Given the description of an element on the screen output the (x, y) to click on. 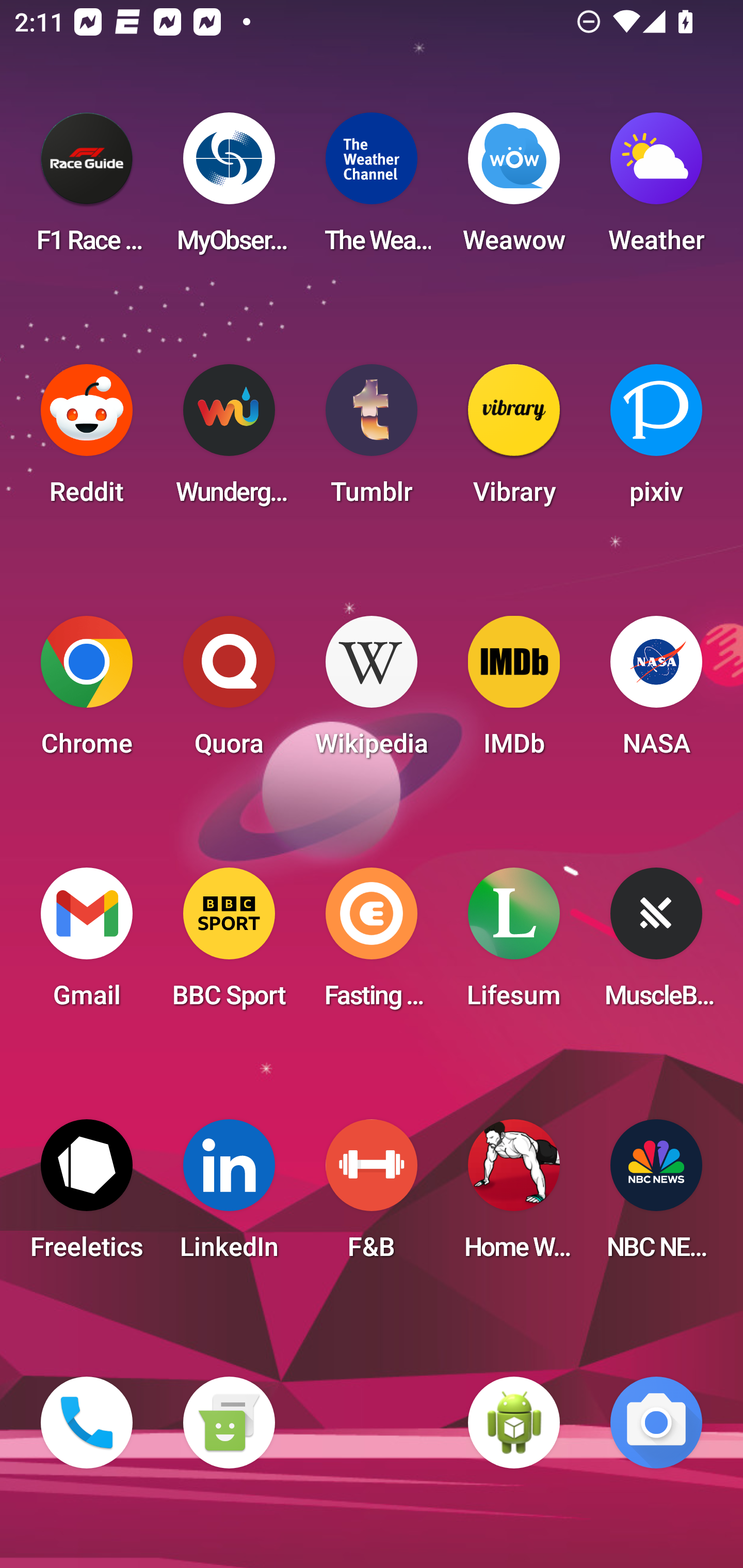
F1 Race Guide (86, 188)
MyObservatory (228, 188)
The Weather Channel (371, 188)
Weawow (513, 188)
Weather (656, 188)
Reddit (86, 440)
Wunderground (228, 440)
Tumblr (371, 440)
Vibrary (513, 440)
pixiv (656, 440)
Chrome (86, 692)
Quora (228, 692)
Wikipedia (371, 692)
IMDb (513, 692)
NASA (656, 692)
Gmail (86, 943)
BBC Sport (228, 943)
Fasting Coach (371, 943)
Lifesum (513, 943)
MuscleBooster (656, 943)
Freeletics (86, 1195)
LinkedIn (228, 1195)
F&B (371, 1195)
Home Workout (513, 1195)
NBC NEWS (656, 1195)
Phone (86, 1422)
Messaging (228, 1422)
WebView Browser Tester (513, 1422)
Camera (656, 1422)
